Given the description of an element on the screen output the (x, y) to click on. 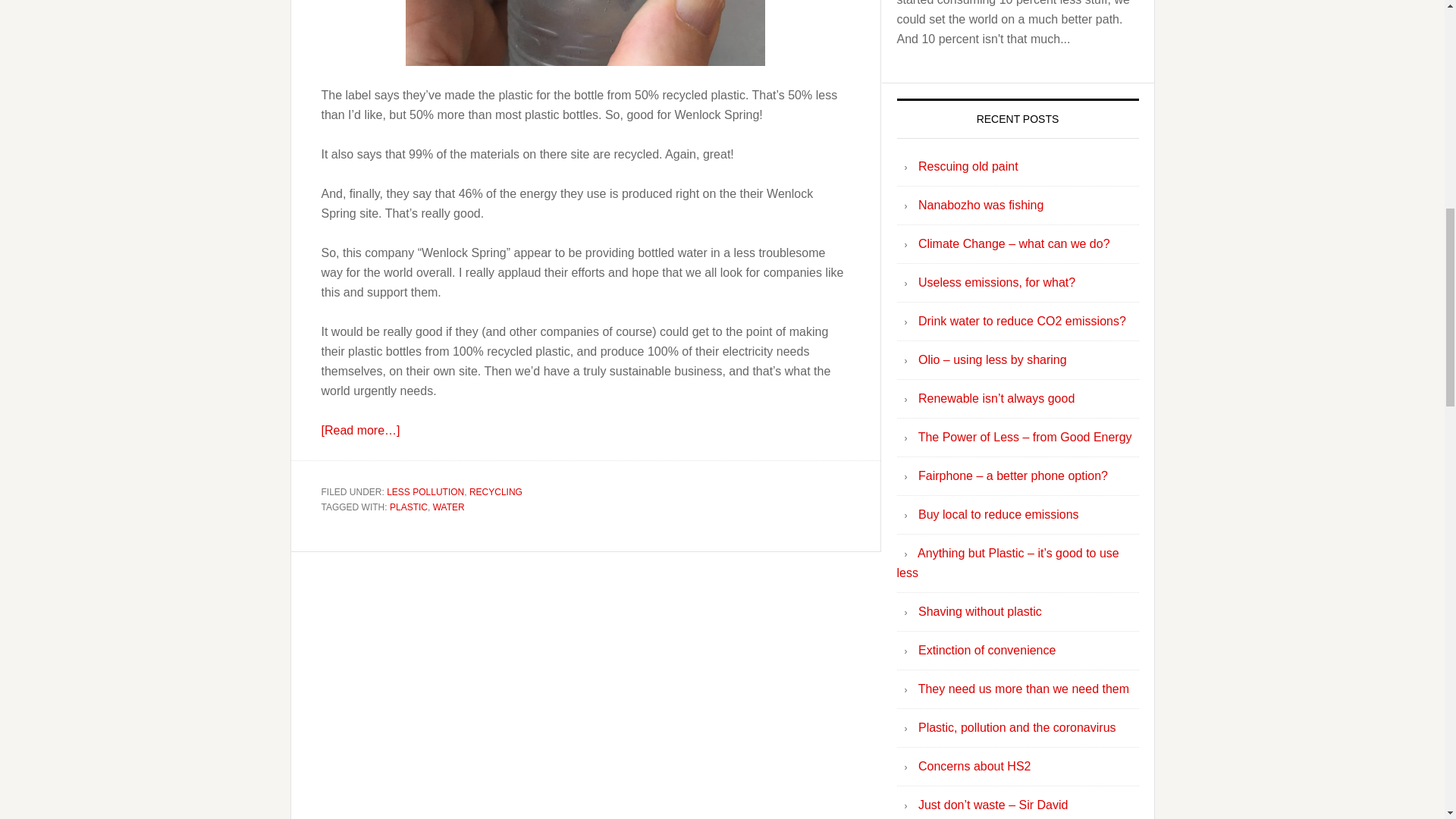
Rescuing old paint (967, 165)
Nanabozho was fishing (980, 205)
WATER (448, 507)
Drink water to reduce CO2 emissions? (1021, 320)
PLASTIC (409, 507)
LESS POLLUTION (425, 491)
Useless emissions, for what? (996, 282)
RECYCLING (495, 491)
